Given the description of an element on the screen output the (x, y) to click on. 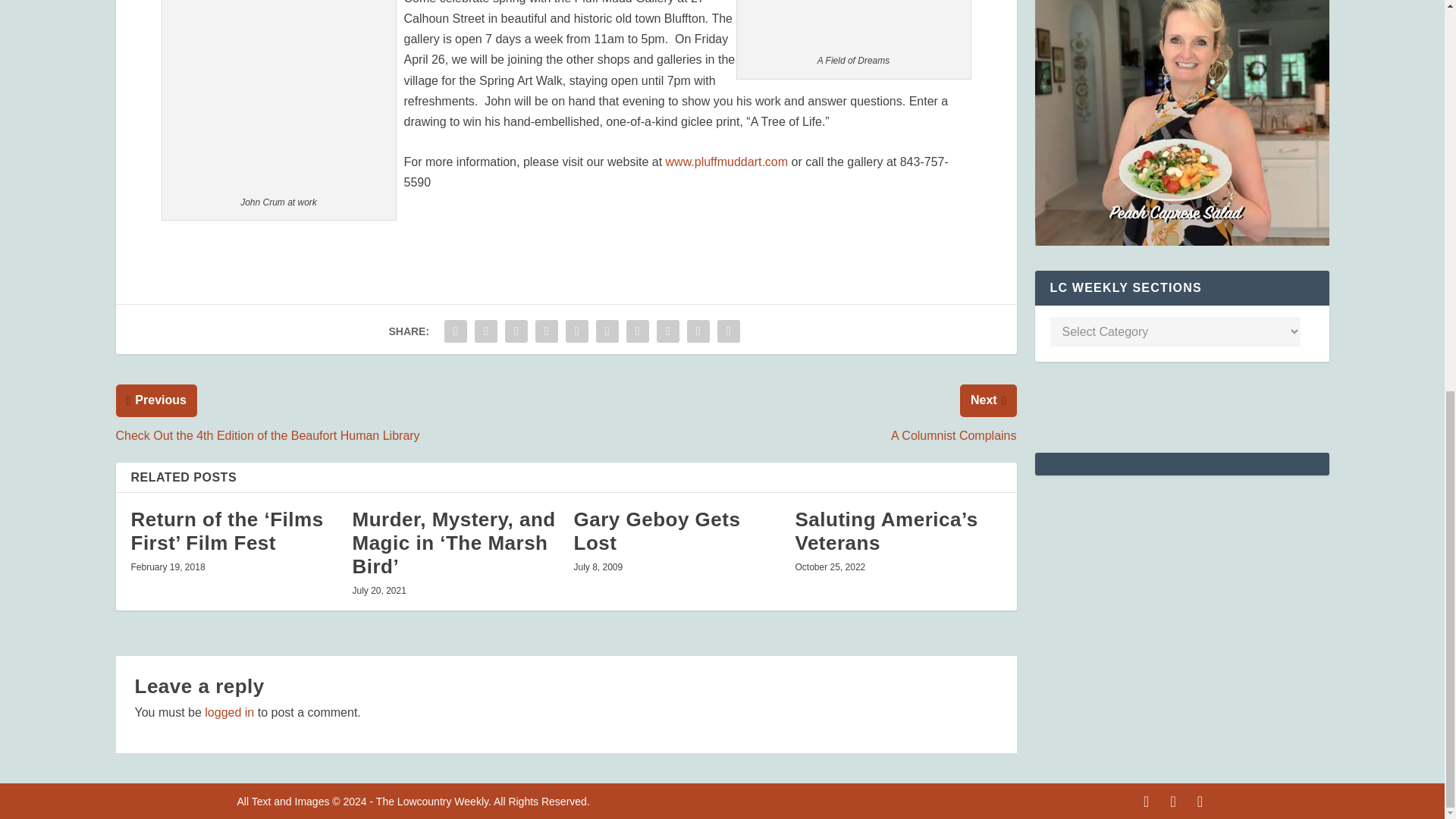
Share "John Crum: Art That Makes You Smile" via Stumbleupon (667, 331)
Share "John Crum: Art That Makes You Smile" via LinkedIn (607, 331)
Share "John Crum: Art That Makes You Smile" via Facebook (455, 331)
Share "John Crum: Art That Makes You Smile" via Buffer (637, 331)
Share "John Crum: Art That Makes You Smile" via Email (697, 331)
Share "John Crum: Art That Makes You Smile" via Tumblr (546, 331)
Share "John Crum: Art That Makes You Smile" via Twitter (485, 331)
Share "John Crum: Art That Makes You Smile" via Pinterest (577, 331)
